Given the description of an element on the screen output the (x, y) to click on. 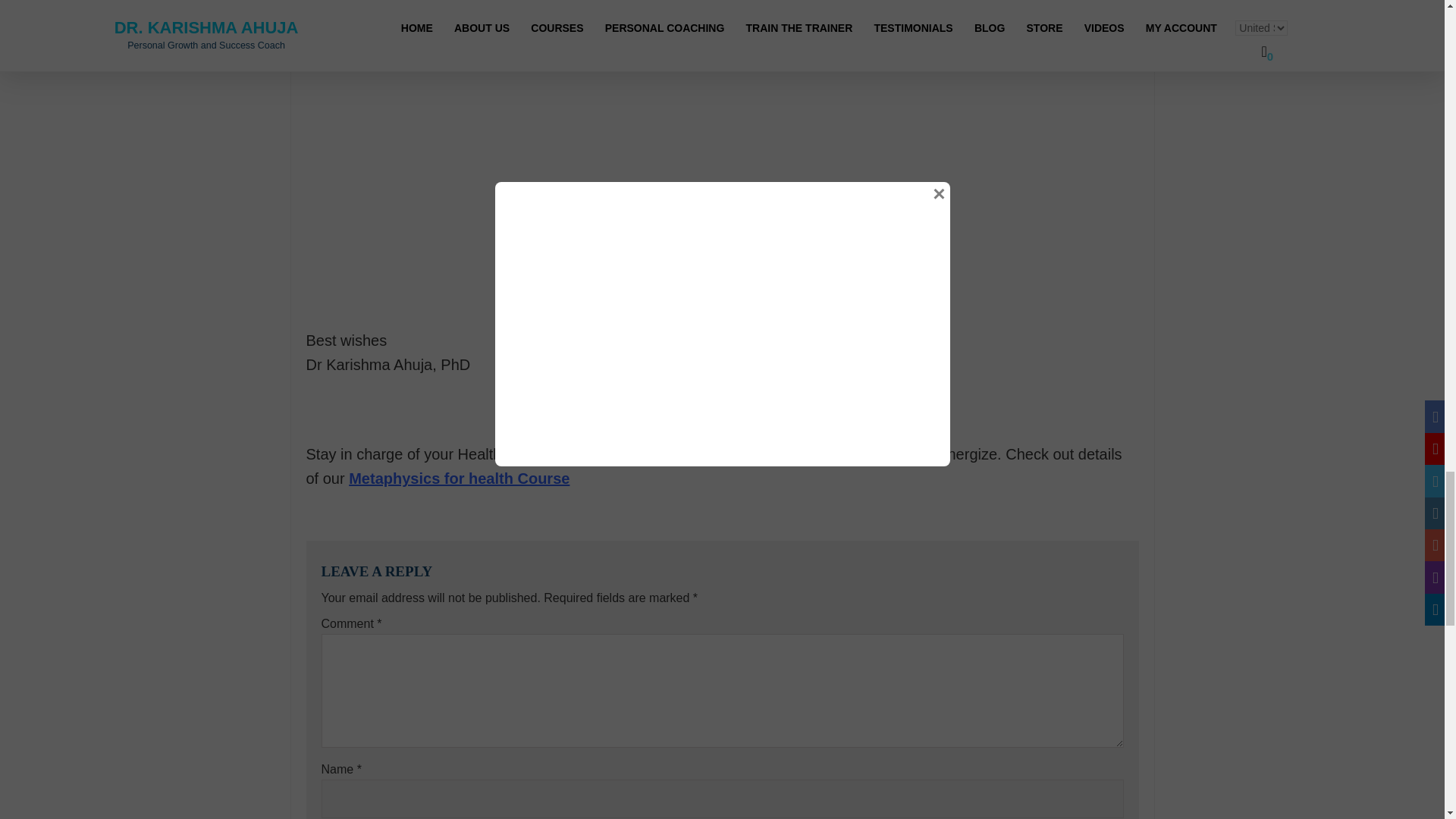
Metaphysics for health Course (459, 478)
